Given the description of an element on the screen output the (x, y) to click on. 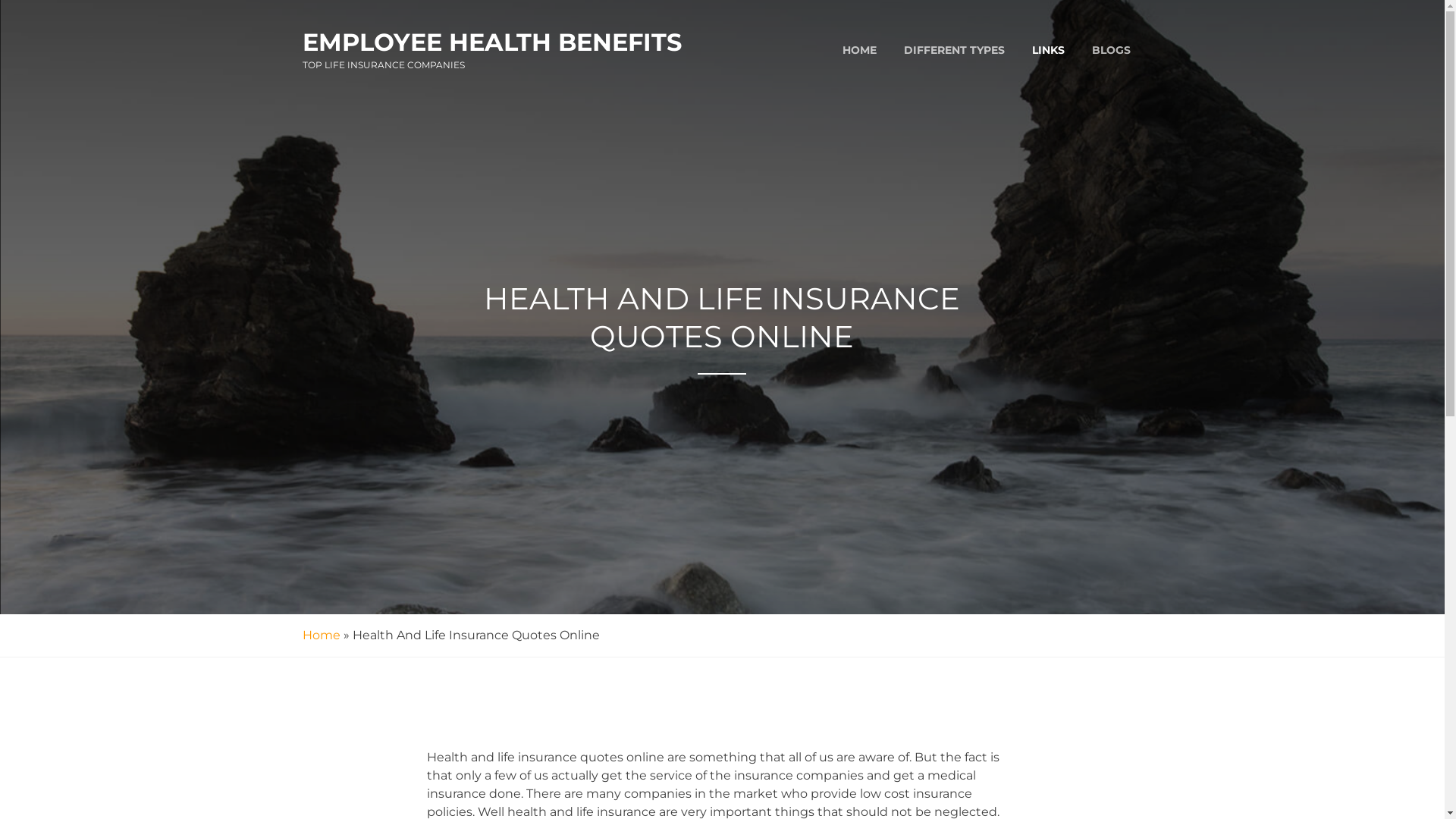
Home Element type: text (320, 634)
DIFFERENT TYPES Element type: text (953, 50)
LINKS Element type: text (1047, 50)
HOME Element type: text (858, 50)
BLOGS Element type: text (1110, 50)
EMPLOYEE HEALTH BENEFITS Element type: text (490, 41)
